Given the description of an element on the screen output the (x, y) to click on. 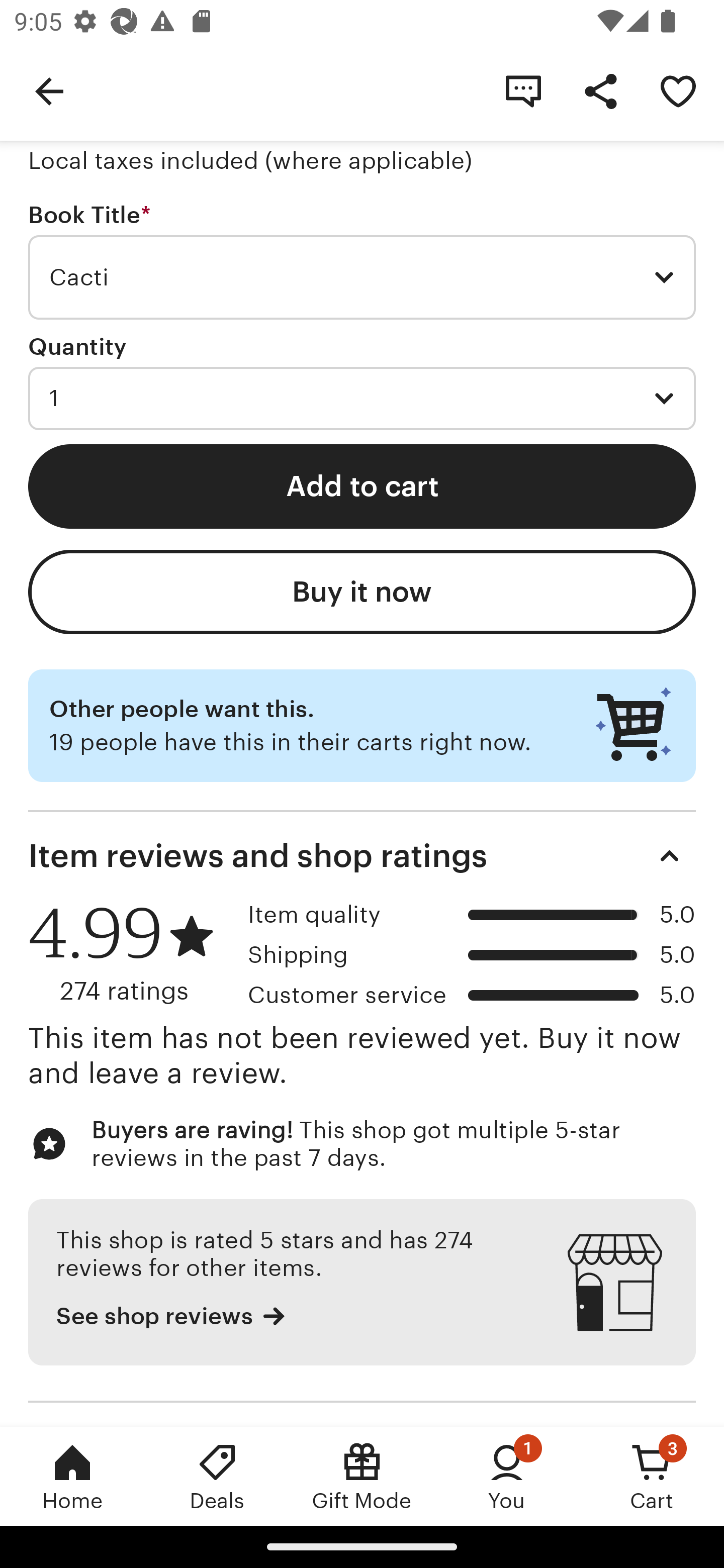
Navigate up (49, 90)
Contact shop (523, 90)
Share (600, 90)
Book Title * Required Cacti (361, 260)
Cacti (361, 277)
Quantity (77, 346)
1 (361, 397)
Add to cart (361, 485)
Buy it now (361, 591)
Item reviews and shop ratings (362, 855)
4.99 274 ratings (130, 953)
Deals (216, 1475)
Gift Mode (361, 1475)
You, 1 new notification You (506, 1475)
Cart, 3 new notifications Cart (651, 1475)
